Given the description of an element on the screen output the (x, y) to click on. 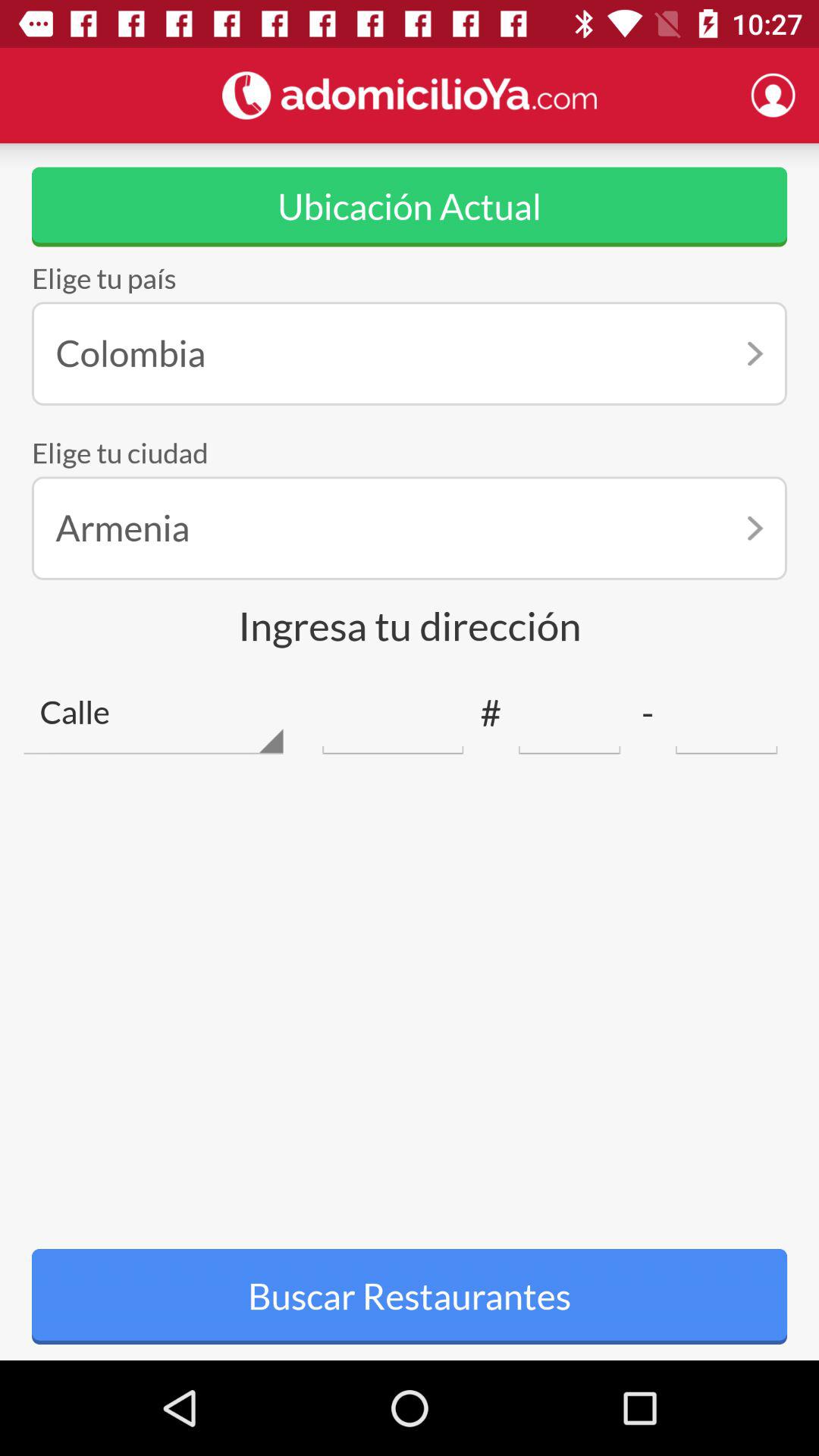
text box (726, 713)
